Given the description of an element on the screen output the (x, y) to click on. 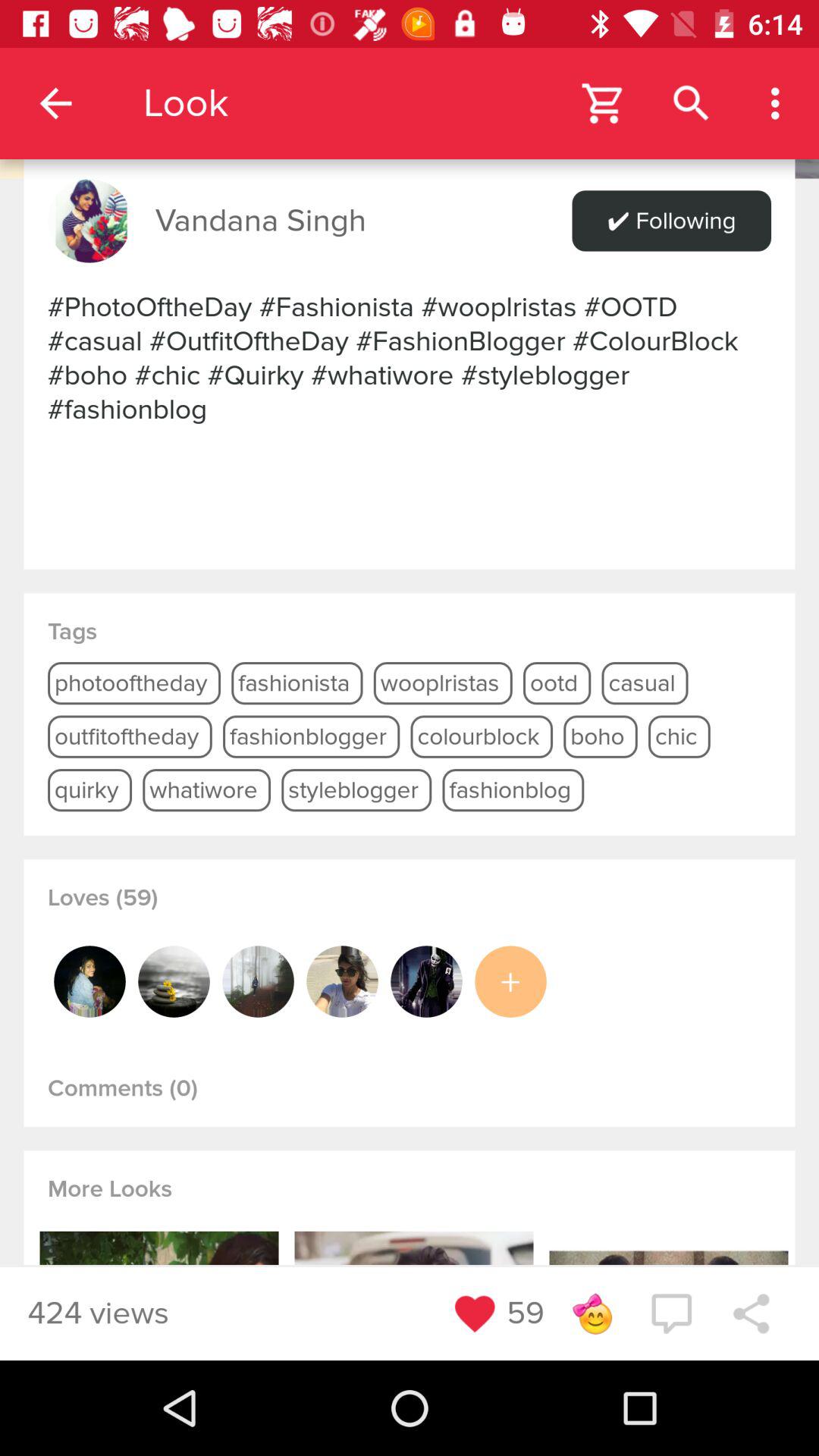
go to profile (173, 981)
